Given the description of an element on the screen output the (x, y) to click on. 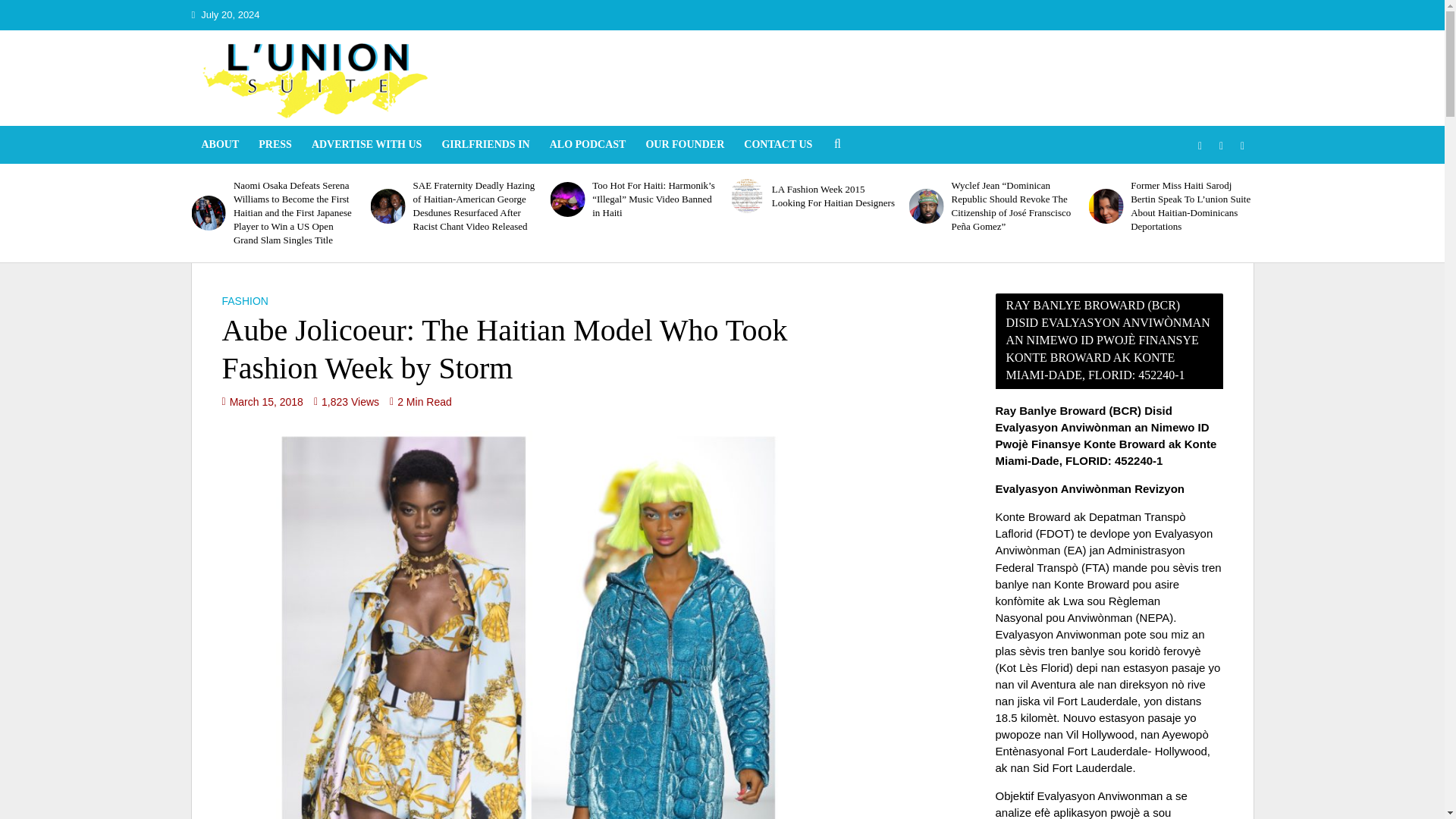
CONTACT US (777, 144)
LA Fashion Week 2015 Looking For Haitian Designers (745, 195)
ABOUT (219, 144)
OUR FOUNDER (683, 144)
GIRLFRIENDS IN (484, 144)
ALO PODCAST (588, 144)
ADVERTISE WITH US (366, 144)
LA Fashion Week 2015 Looking For Haitian Designers (833, 195)
PRESS (274, 144)
